Given the description of an element on the screen output the (x, y) to click on. 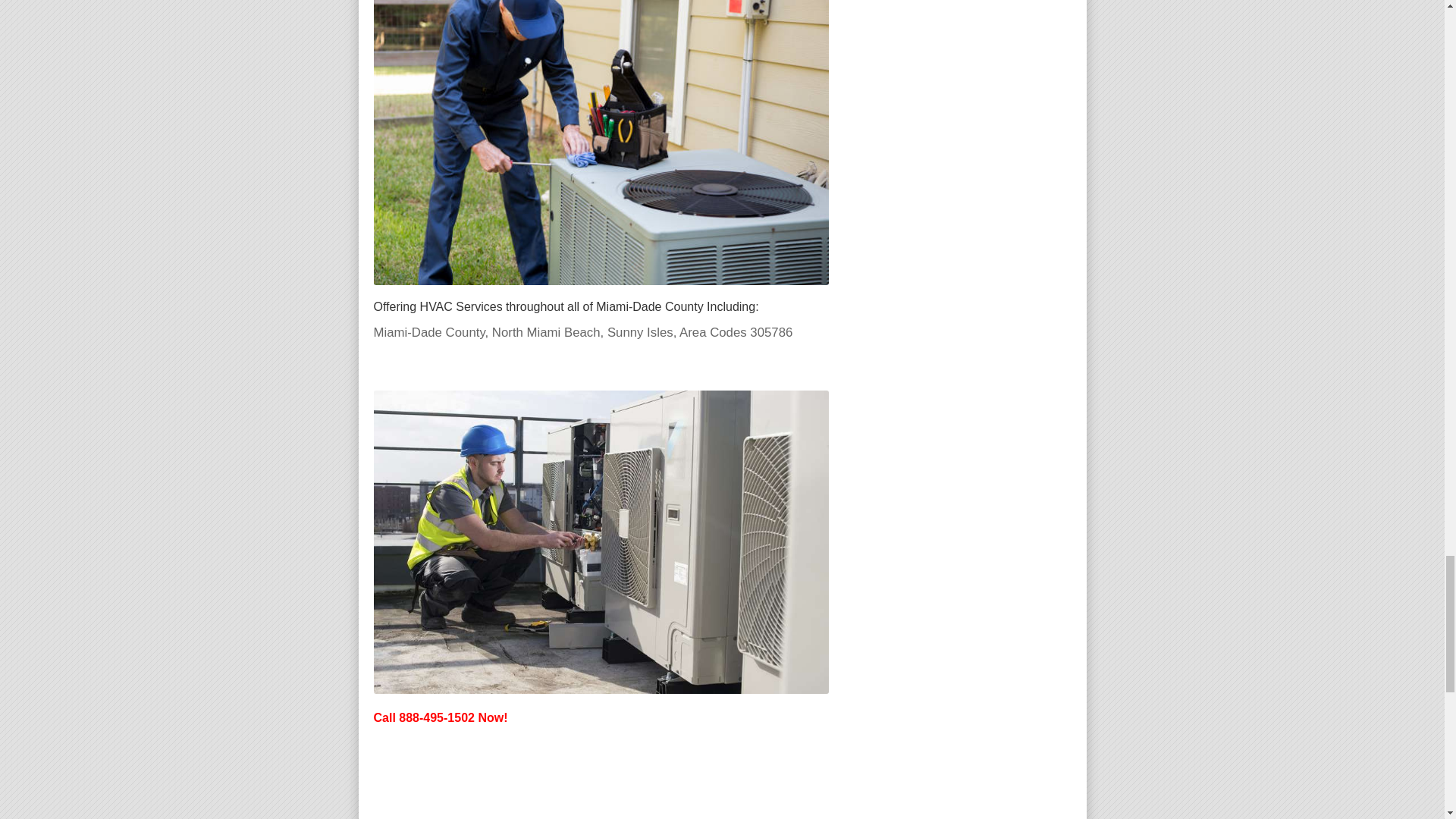
HVAC Repair North Miami Beach FL (600, 142)
Call 888-495-1502 Now! (439, 717)
